Given the description of an element on the screen output the (x, y) to click on. 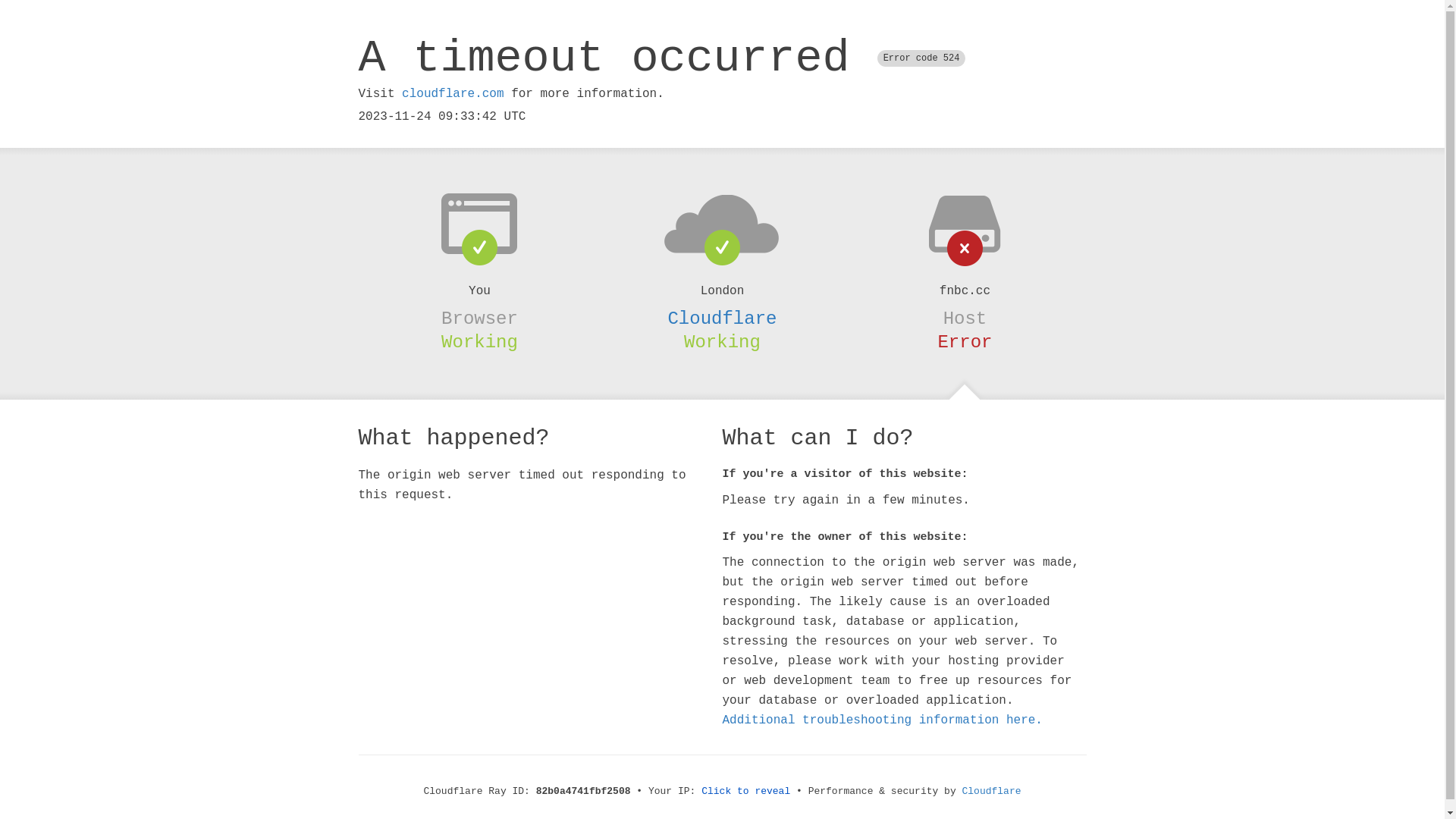
cloudflare.com Element type: text (452, 93)
Click to reveal Element type: text (745, 791)
Cloudflare Element type: text (991, 791)
Cloudflare Element type: text (721, 318)
Additional troubleshooting information here. Element type: text (881, 720)
